Given the description of an element on the screen output the (x, y) to click on. 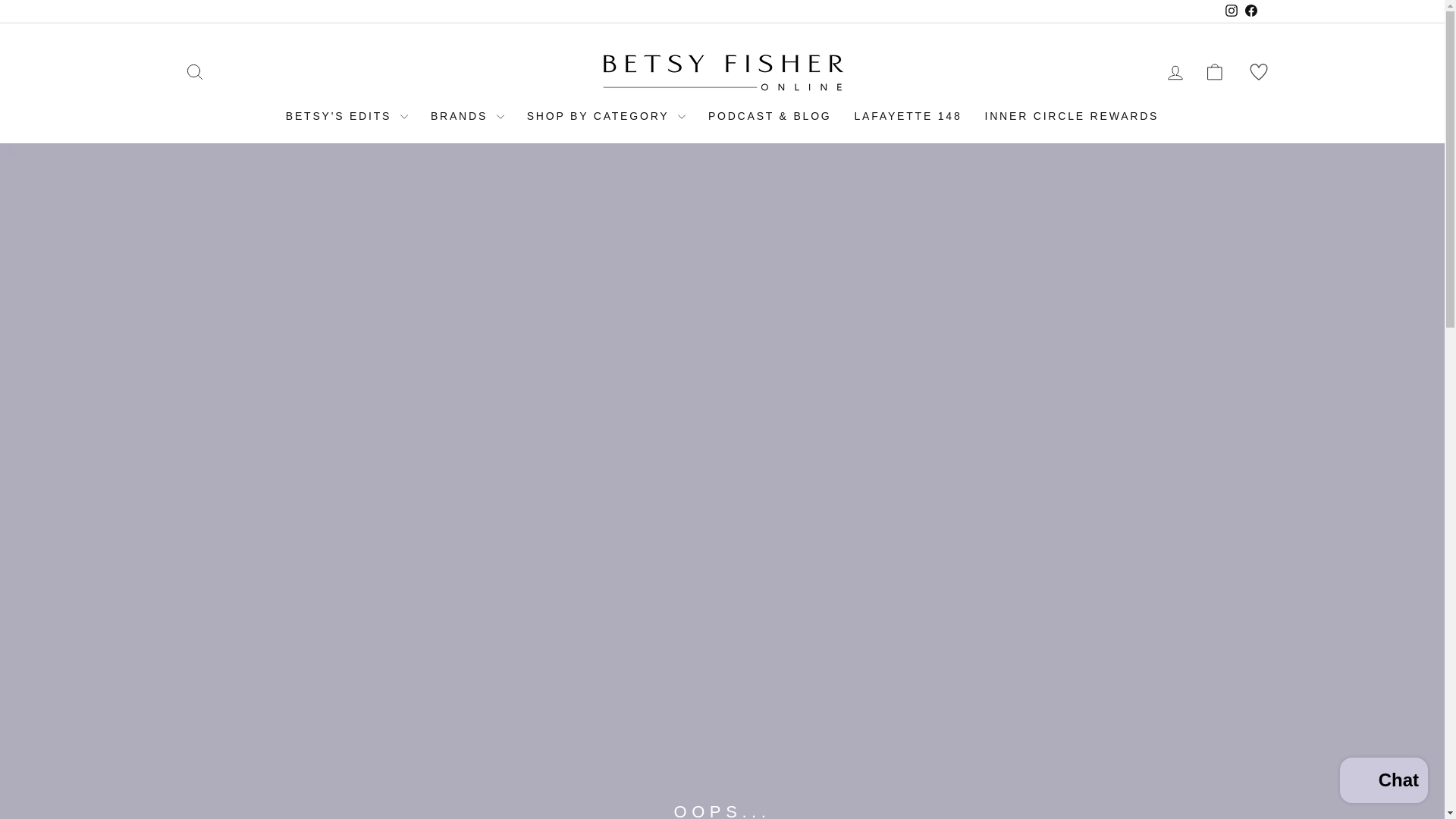
ACCOUNT (1175, 72)
ICON-BAG-MINIMAL (1214, 71)
ICON-SEARCH (194, 71)
Shopify online store chat (1383, 781)
instagram (1231, 10)
